Given the description of an element on the screen output the (x, y) to click on. 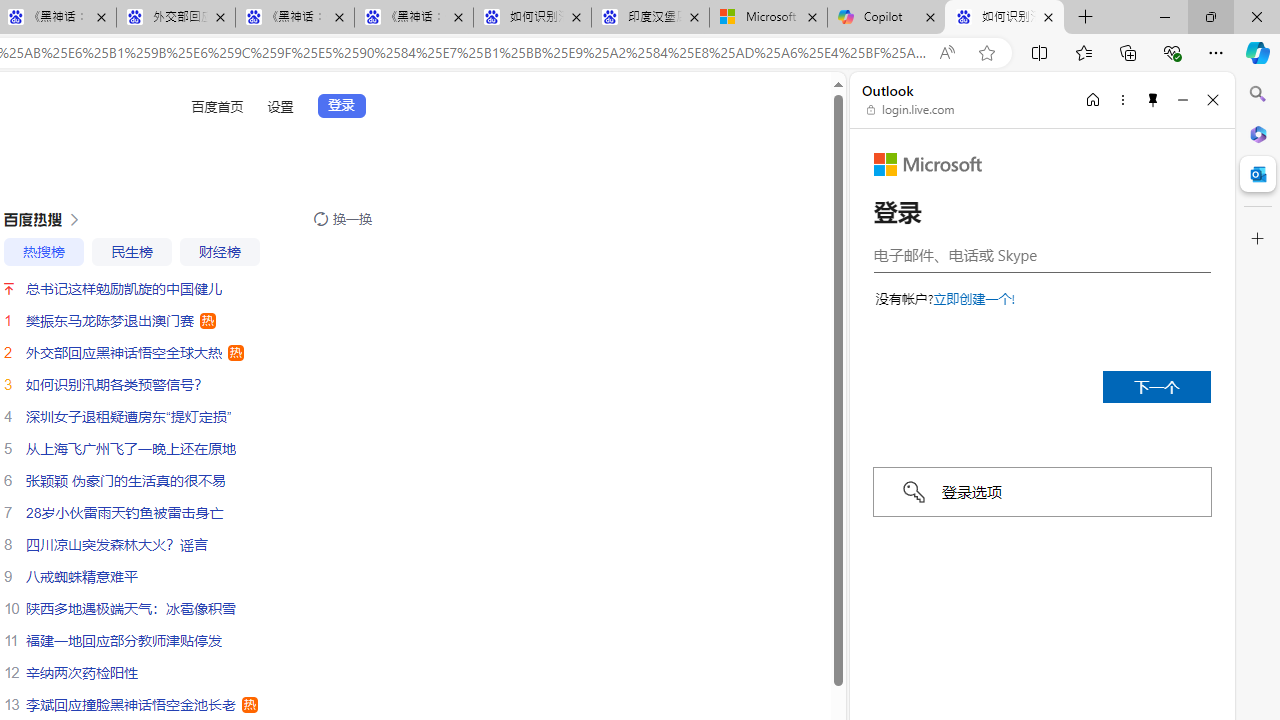
More options (1122, 99)
login.live.com (911, 110)
